Given the description of an element on the screen output the (x, y) to click on. 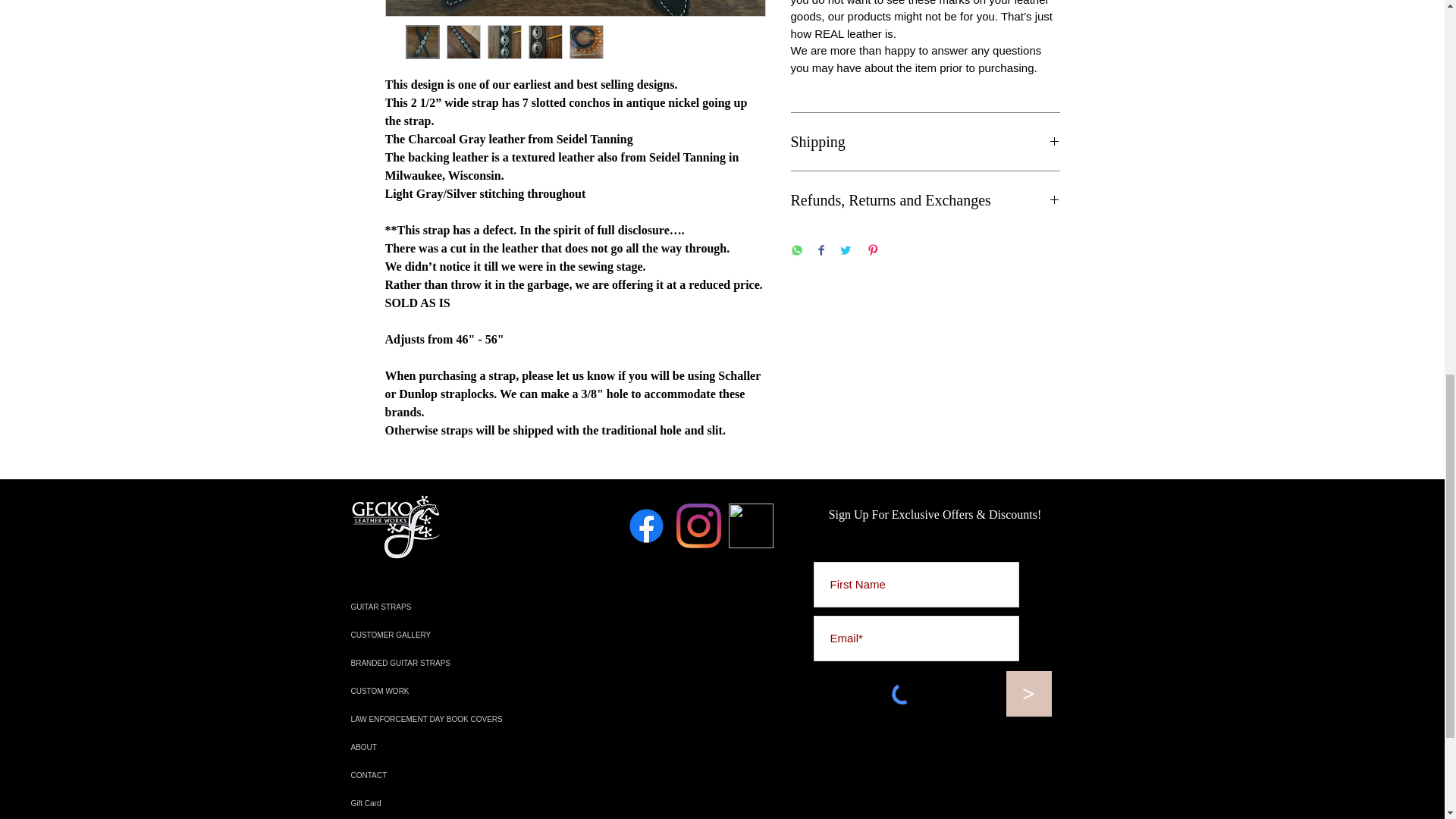
CUSTOM WORK (455, 691)
LAW ENFORCEMENT DAY BOOK COVERS (455, 719)
Refunds, Returns and Exchanges (924, 199)
BRANDED GUITAR STRAPS (455, 663)
GUITAR STRAPS (455, 606)
Shipping (924, 141)
CUSTOMER GALLERY (455, 634)
ABOUT (455, 747)
CONTACT (455, 775)
